Given the description of an element on the screen output the (x, y) to click on. 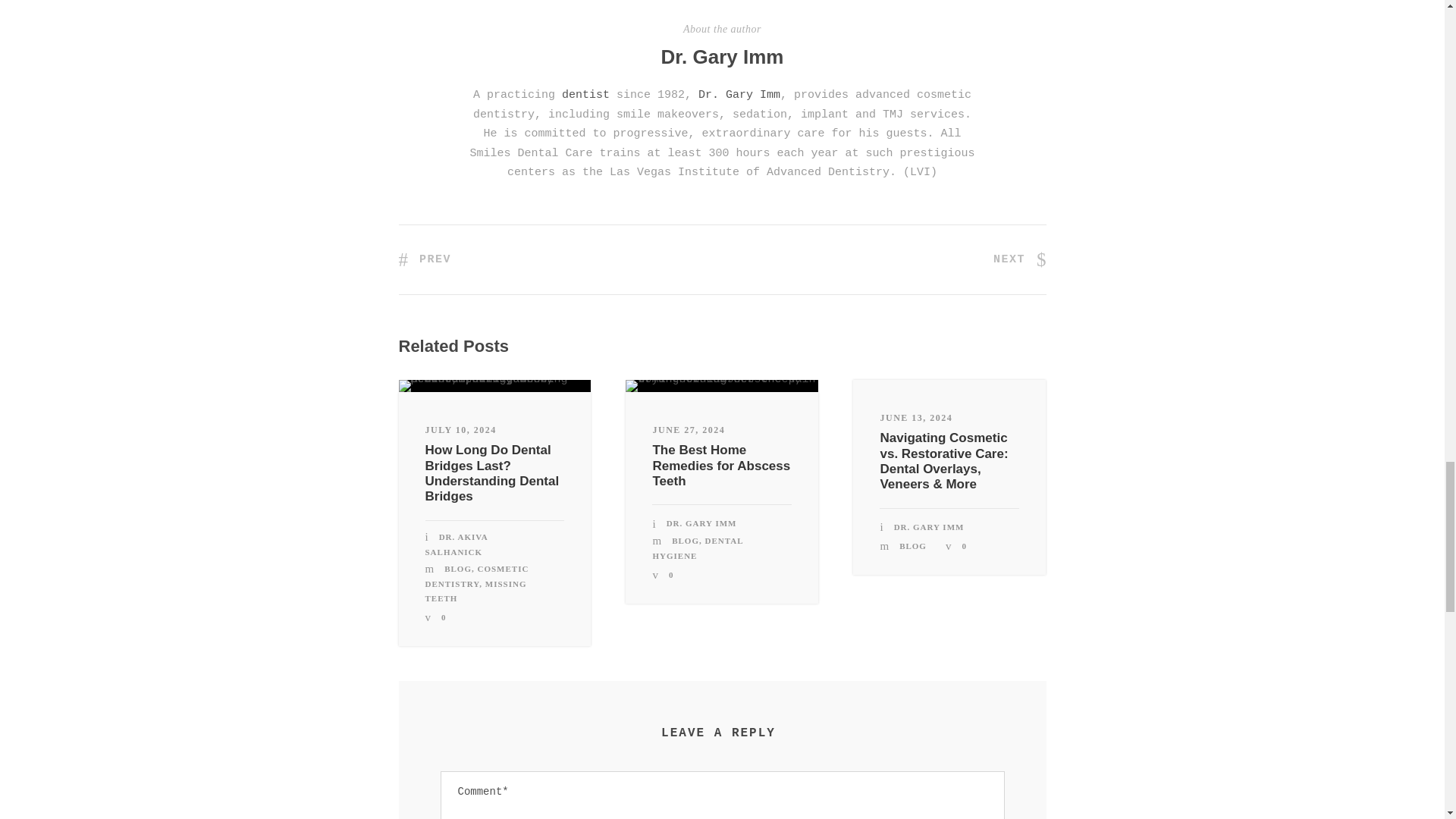
PREV (424, 259)
Posts by Dr. Akiva Salhanick (456, 544)
Posts by Dr. Gary Imm (701, 522)
Posts by Dr. Gary Imm (928, 526)
Posts by Dr. Gary Imm (722, 56)
dentist (586, 94)
Dr. Gary Imm (739, 94)
Dr. Gary Imm (722, 56)
